Given the description of an element on the screen output the (x, y) to click on. 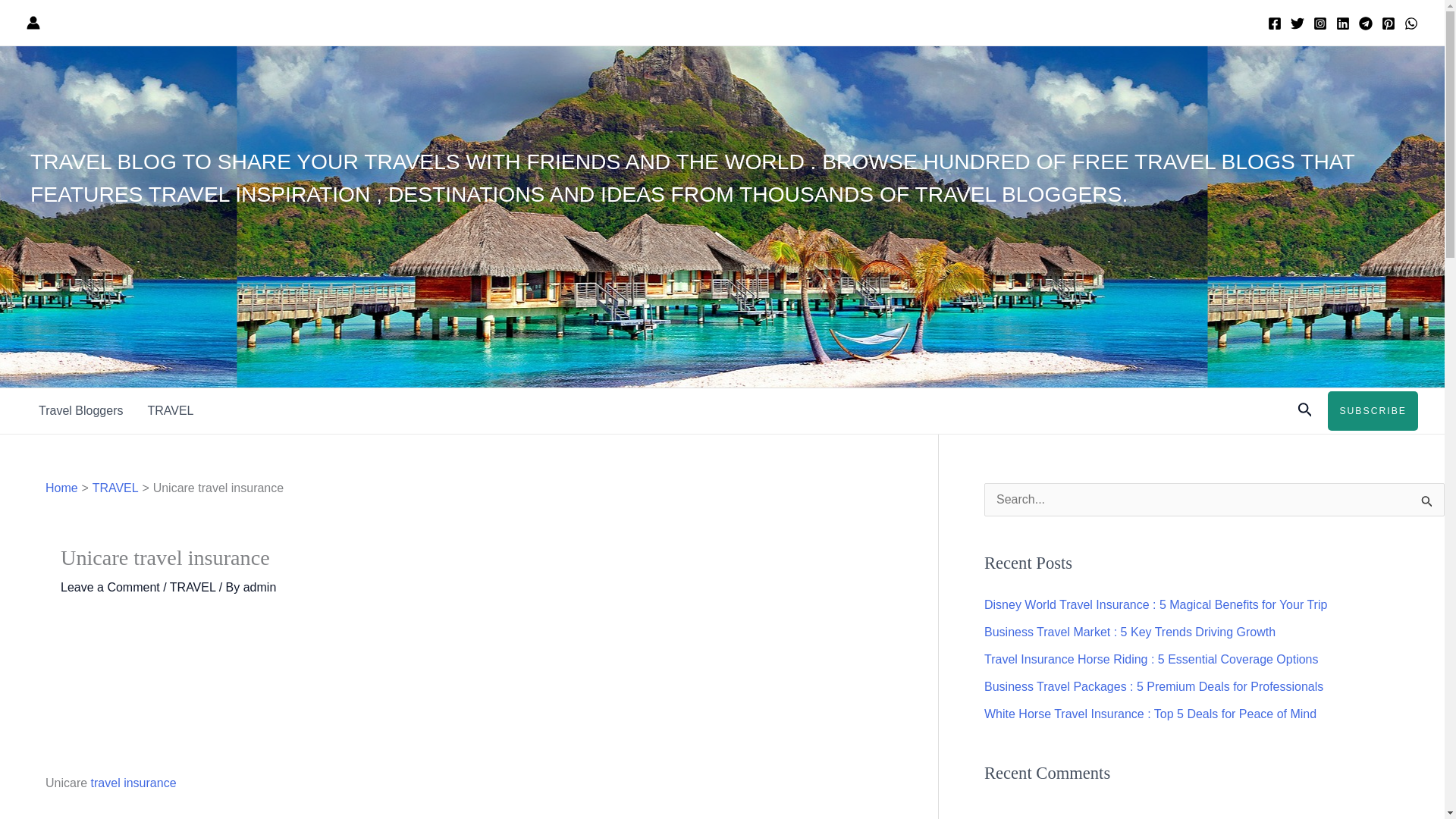
Business Travel Market : 5 Key Trends Driving Growth (1129, 631)
Business Travel Packages : 5 Premium Deals for Professionals (1153, 686)
TRAVEL (115, 487)
TRAVEL (170, 411)
Travel Bloggers (80, 411)
SUBSCRIBE (1372, 411)
travel insurance (133, 782)
Advertisement (468, 695)
admin (259, 586)
View all posts by admin (259, 586)
TRAVEL (192, 586)
White Horse Travel Insurance : Top 5 Deals for Peace of Mind (1150, 713)
Leave a Comment (110, 586)
Home (61, 487)
